Given the description of an element on the screen output the (x, y) to click on. 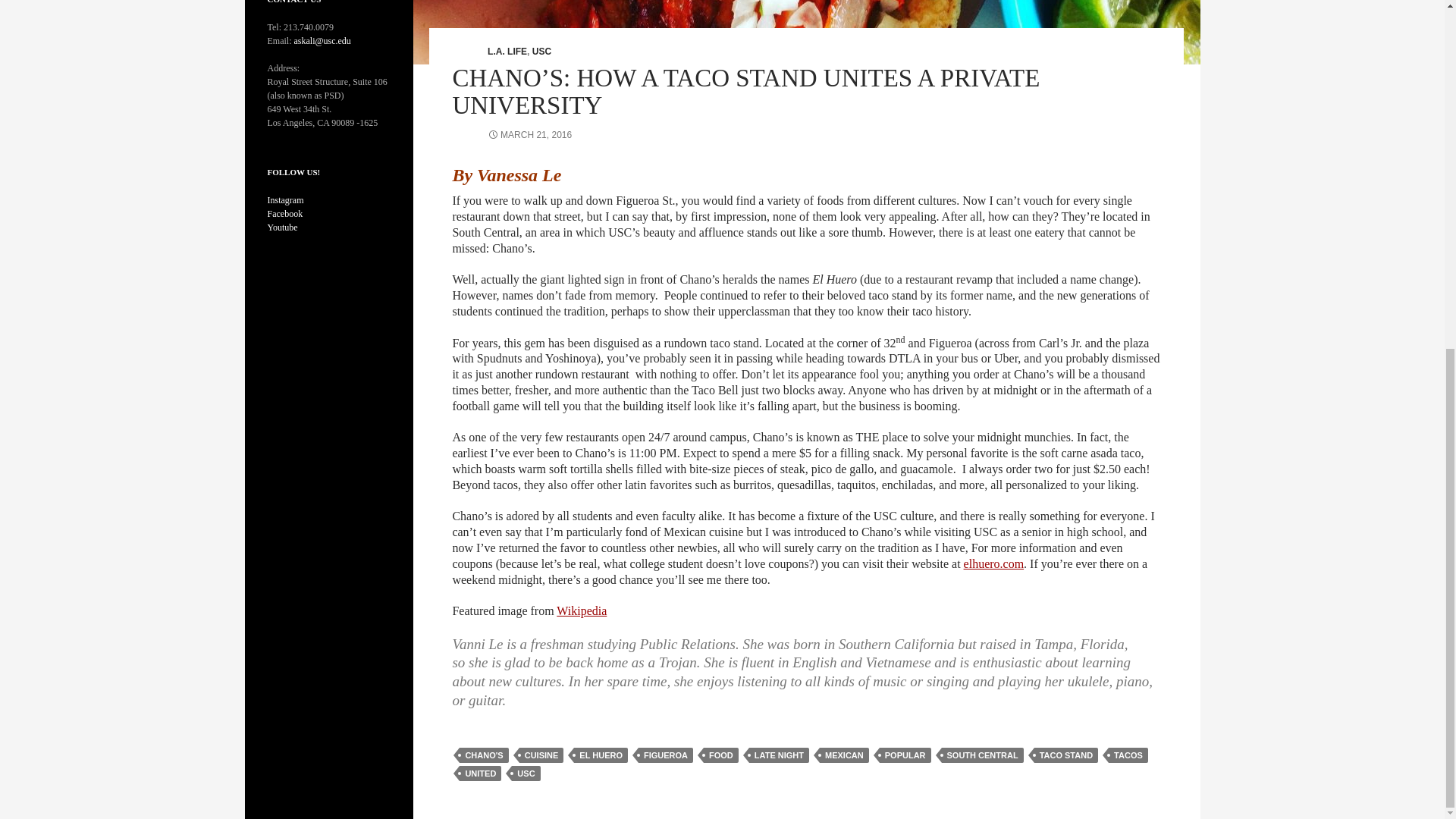
L.A. LIFE (507, 50)
USC (541, 50)
CHANO'S (484, 754)
SOUTH CENTRAL (982, 754)
Wikipedia (581, 610)
POPULAR (905, 754)
TACOS (1128, 754)
LATE NIGHT (779, 754)
TACO STAND (1065, 754)
MARCH 21, 2016 (529, 134)
CUISINE (541, 754)
elhuero.com (994, 563)
EL HUERO (600, 754)
USC (526, 773)
FIGUEROA (666, 754)
